Given the description of an element on the screen output the (x, y) to click on. 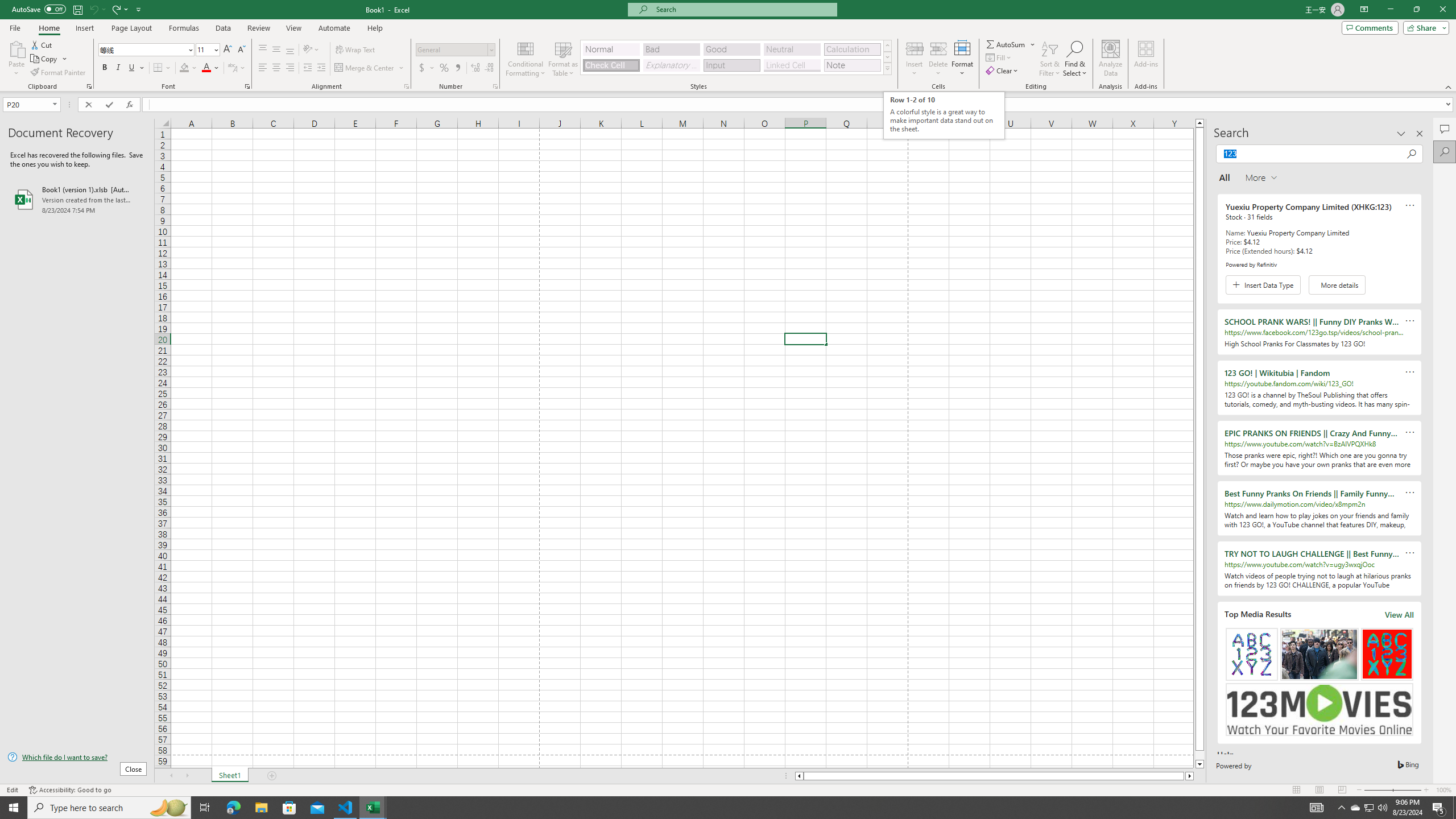
Format Cell Alignment (405, 85)
Decrease Font Size (240, 49)
Underline (131, 67)
Increase Font Size (227, 49)
Paste (16, 48)
Decrease Indent (307, 67)
